Given the description of an element on the screen output the (x, y) to click on. 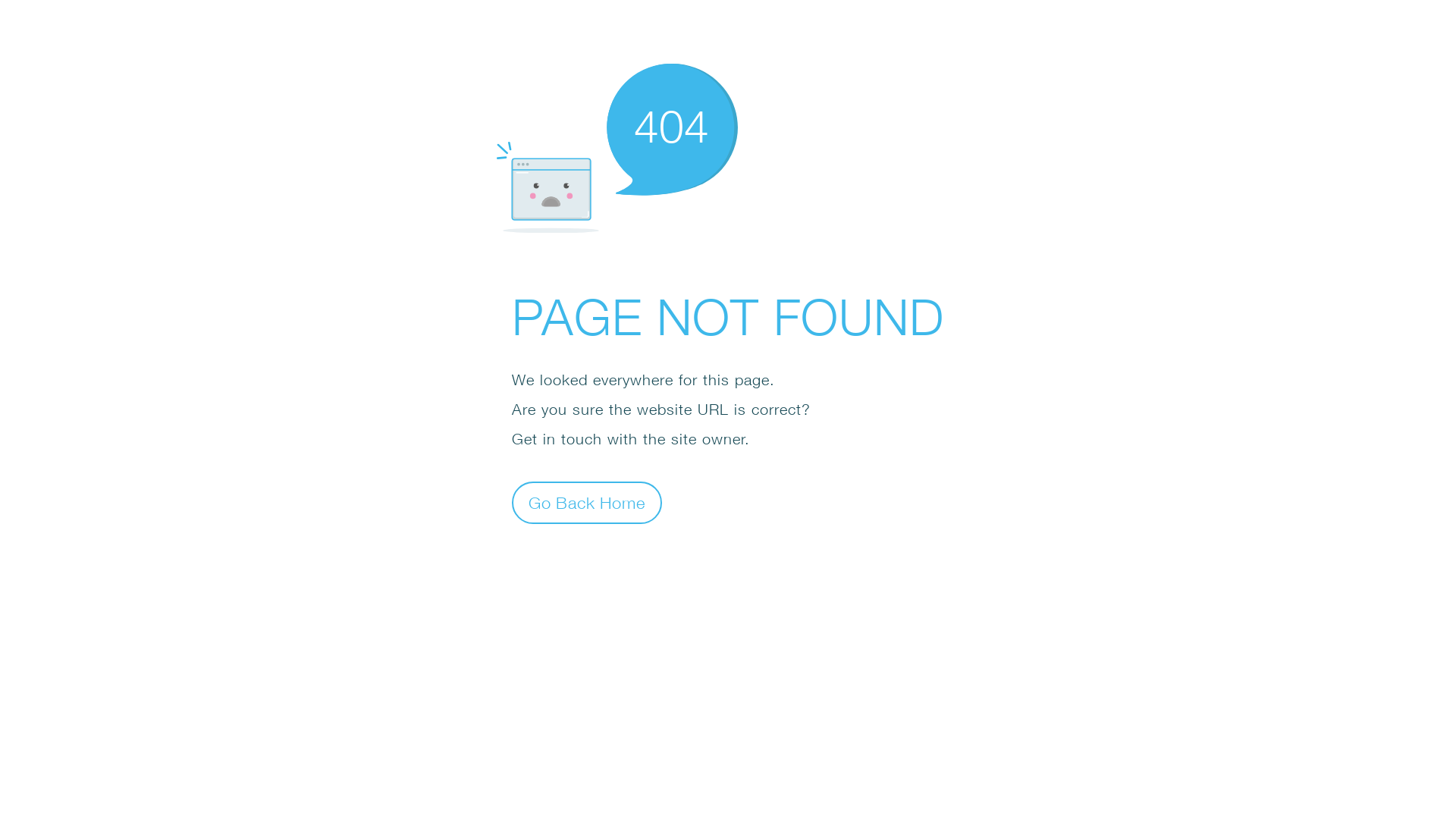
Go Back Home Element type: text (586, 502)
